Given the description of an element on the screen output the (x, y) to click on. 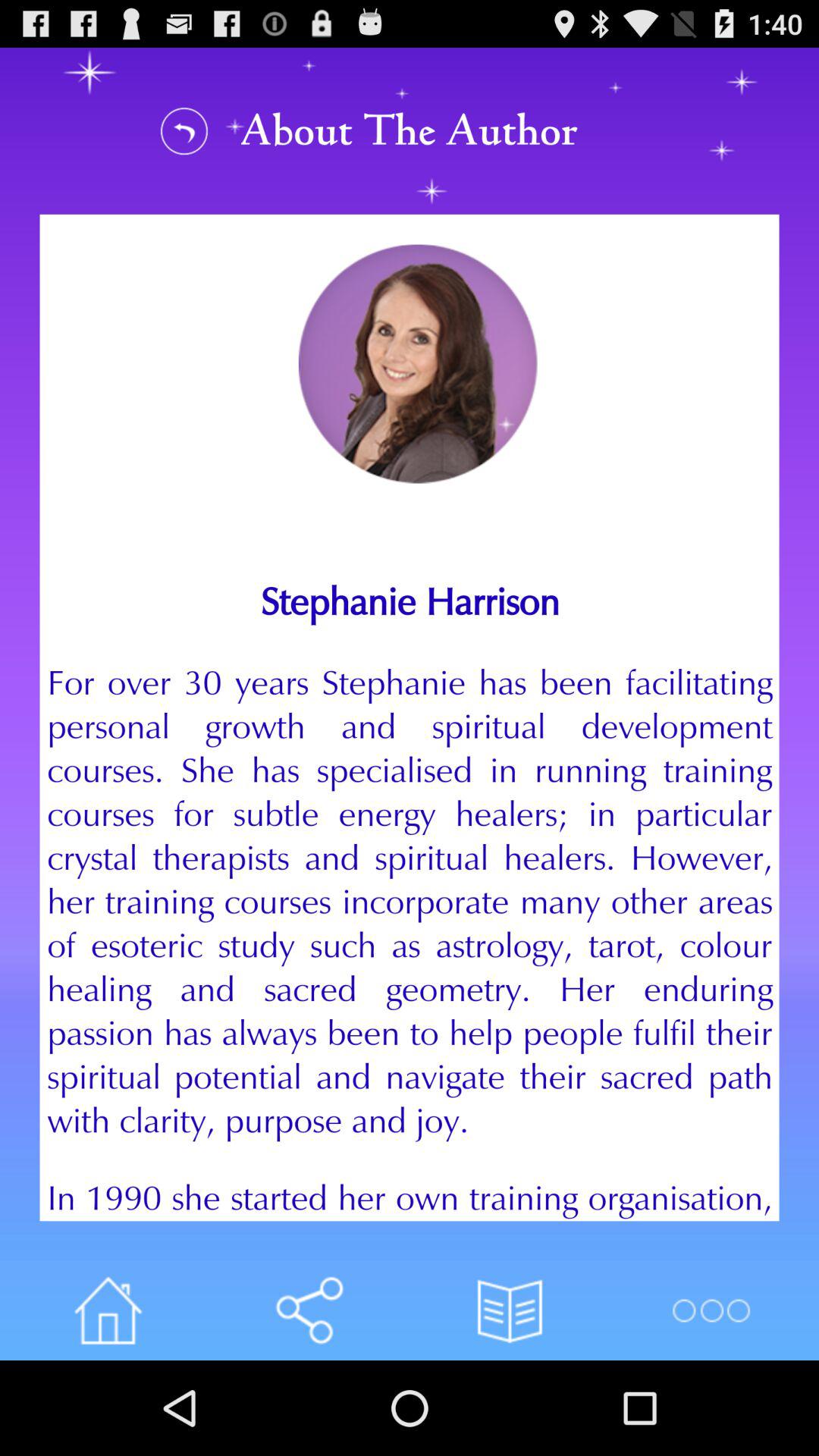
go back (184, 130)
